Given the description of an element on the screen output the (x, y) to click on. 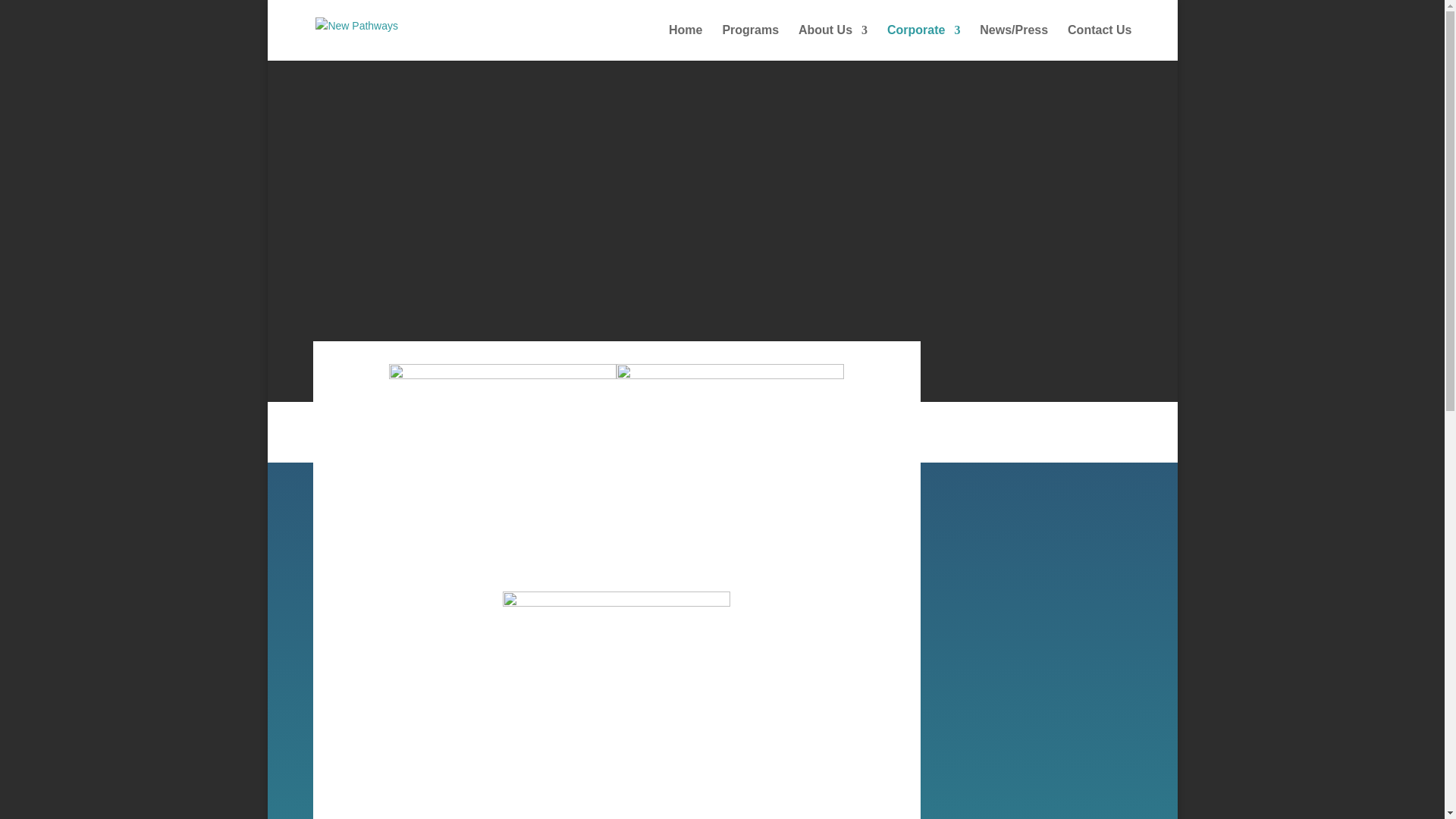
Home (684, 42)
Programs (750, 42)
Corporate (922, 42)
Contact Us (1099, 42)
About Us (832, 42)
